Given the description of an element on the screen output the (x, y) to click on. 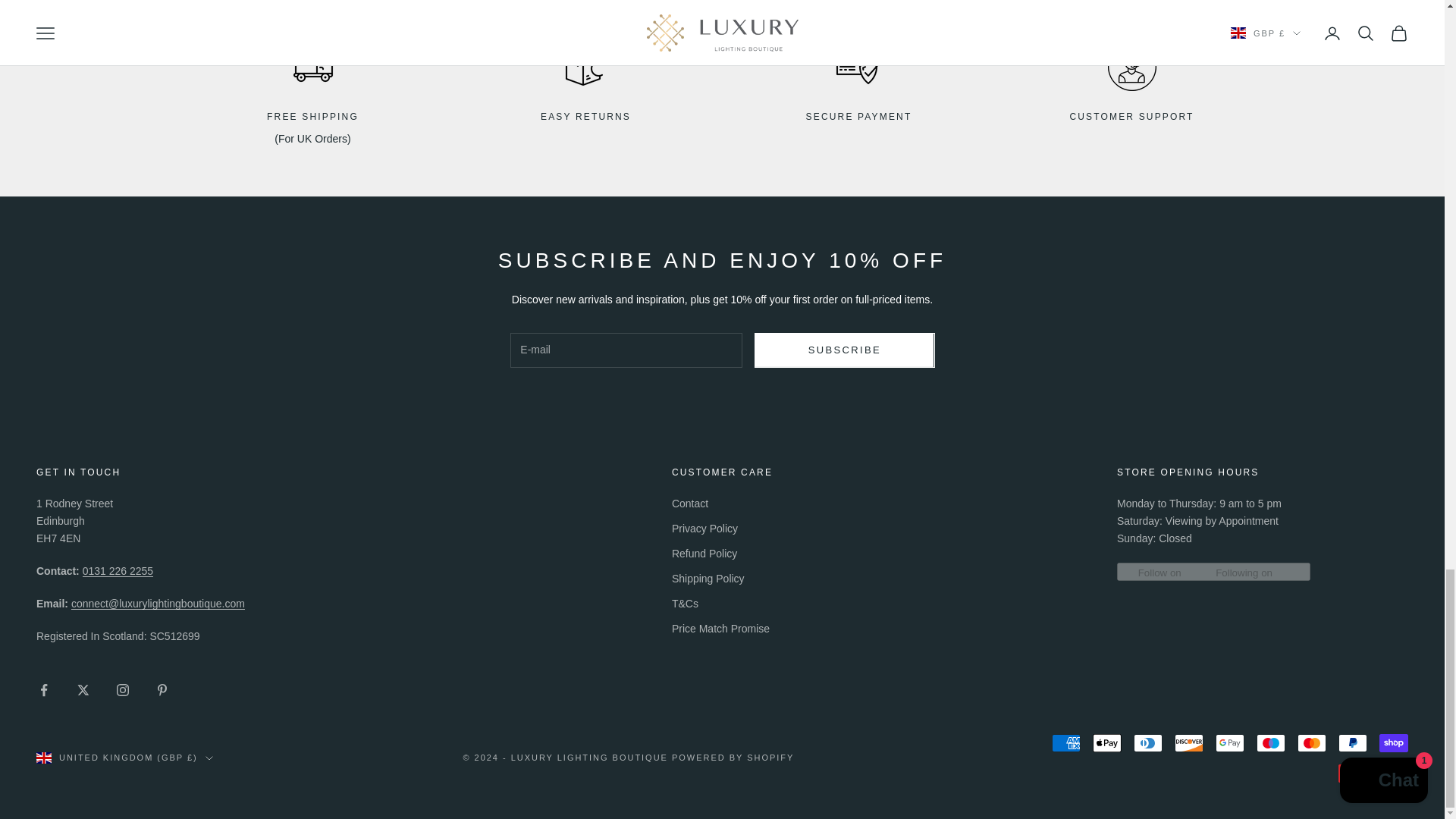
tel:01312262255 (117, 571)
